Given the description of an element on the screen output the (x, y) to click on. 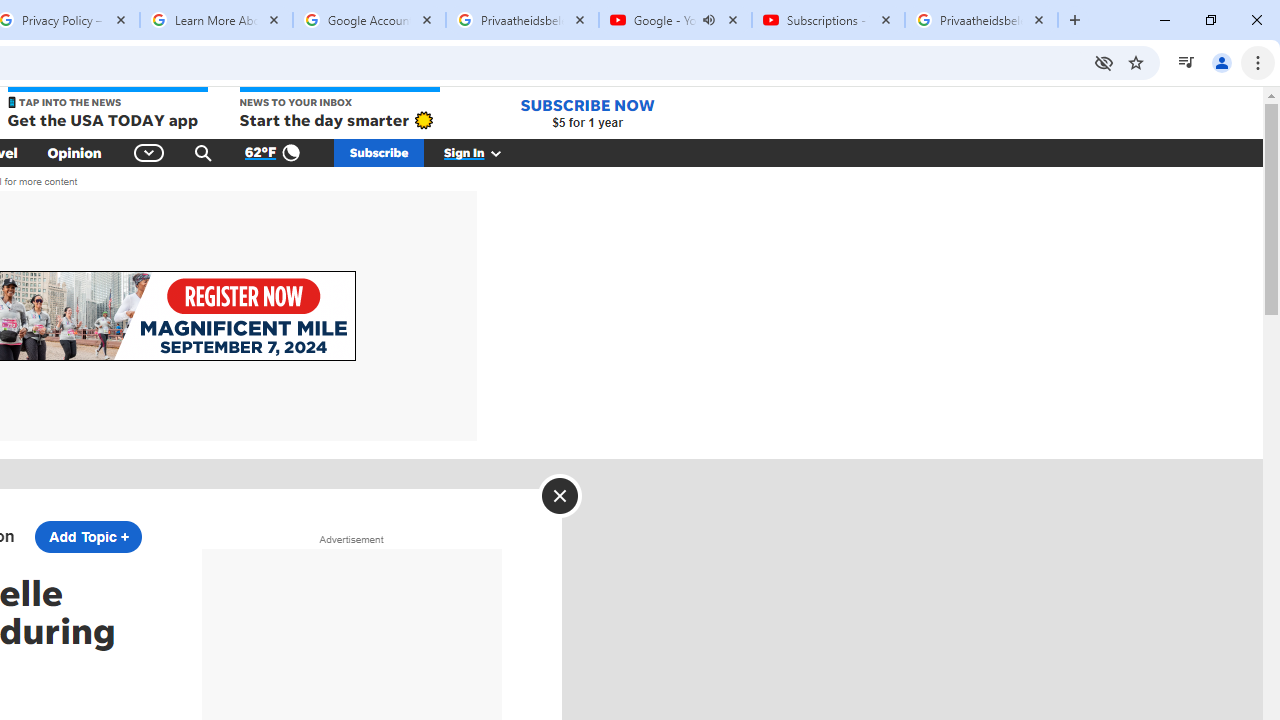
Sign In (483, 152)
Global Navigation (149, 152)
Subscriptions - YouTube (827, 20)
Google Account (369, 20)
Subscribe (379, 152)
Add Topic (88, 536)
